Given the description of an element on the screen output the (x, y) to click on. 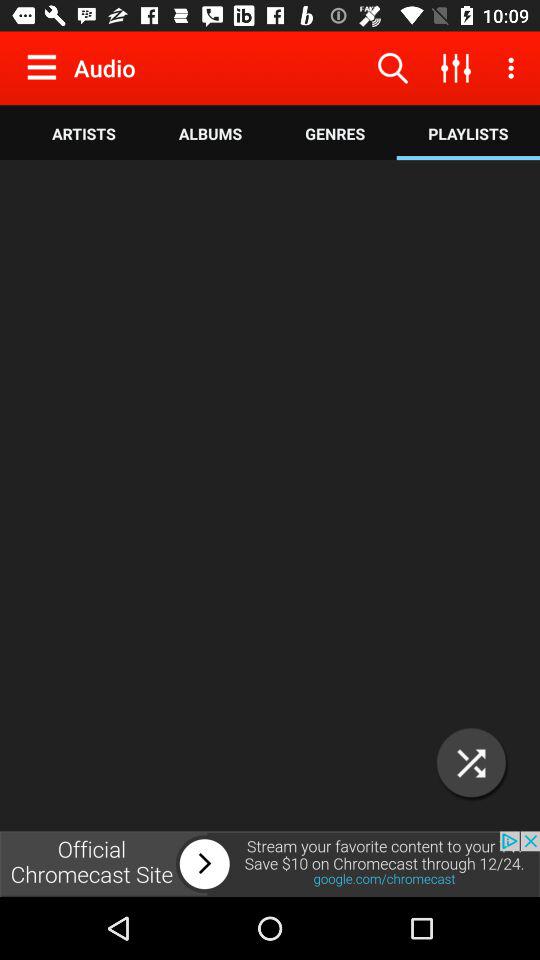
playlist option (471, 762)
